Given the description of an element on the screen output the (x, y) to click on. 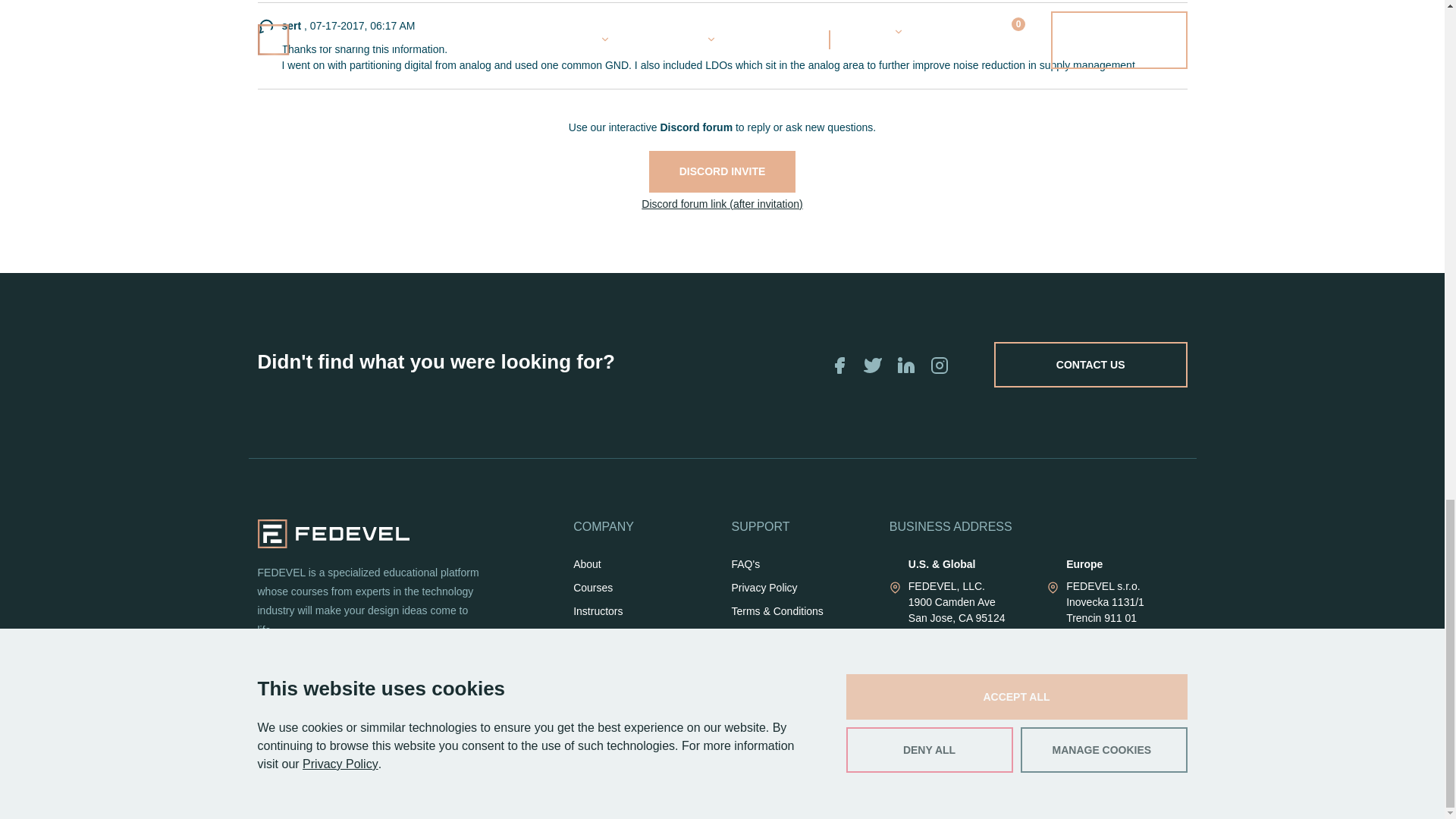
DISCORD INVITE (722, 171)
About (587, 564)
CONTACT US (1091, 364)
